Given the description of an element on the screen output the (x, y) to click on. 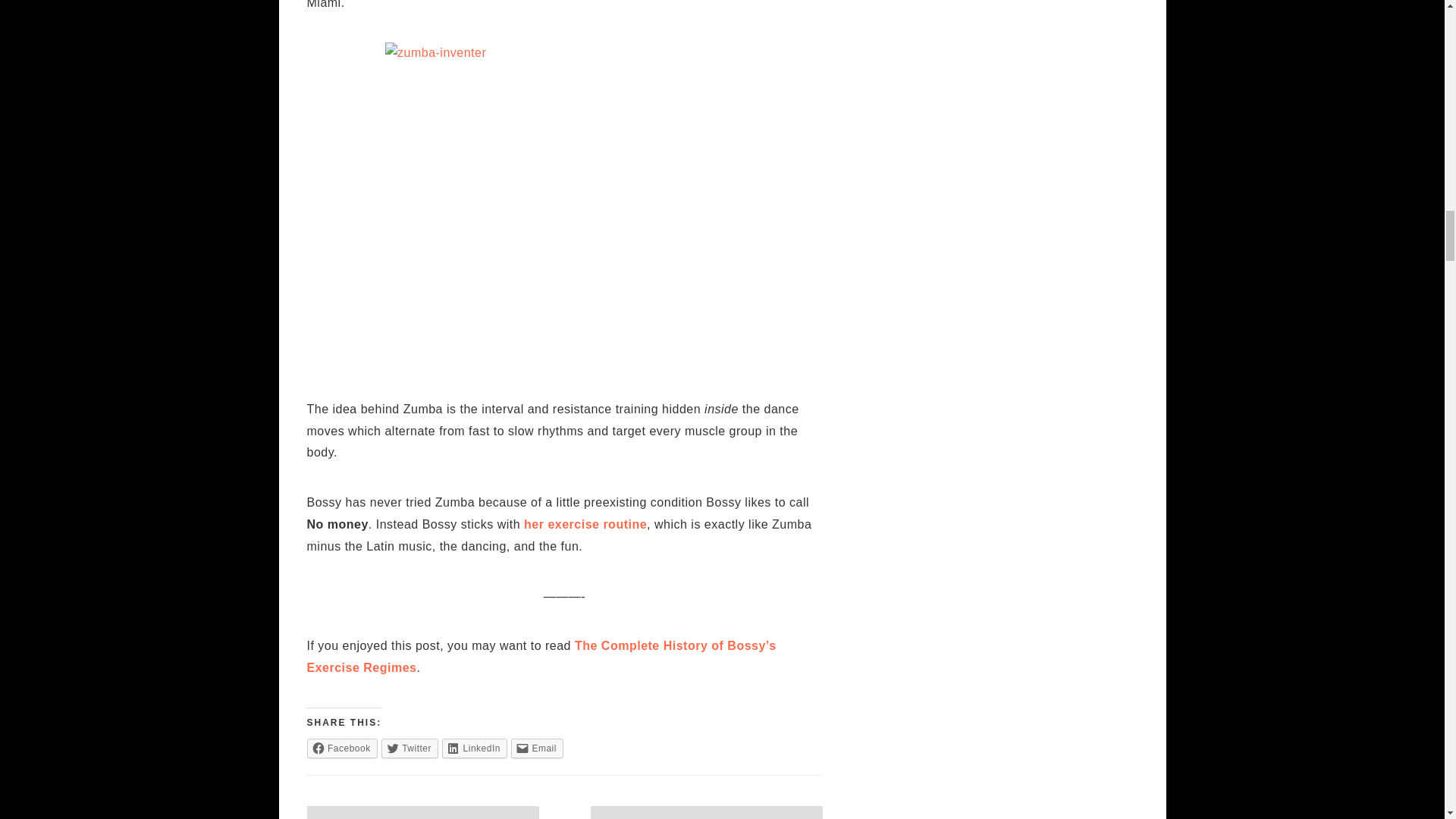
Email (537, 748)
her exercise routine (585, 523)
Facebook (341, 748)
Click to share on LinkedIn (474, 748)
Click to share on Twitter (409, 748)
Twitter (409, 748)
LinkedIn (474, 748)
Click to email a link to a friend (537, 748)
Click to share on Facebook (341, 748)
